Given the description of an element on the screen output the (x, y) to click on. 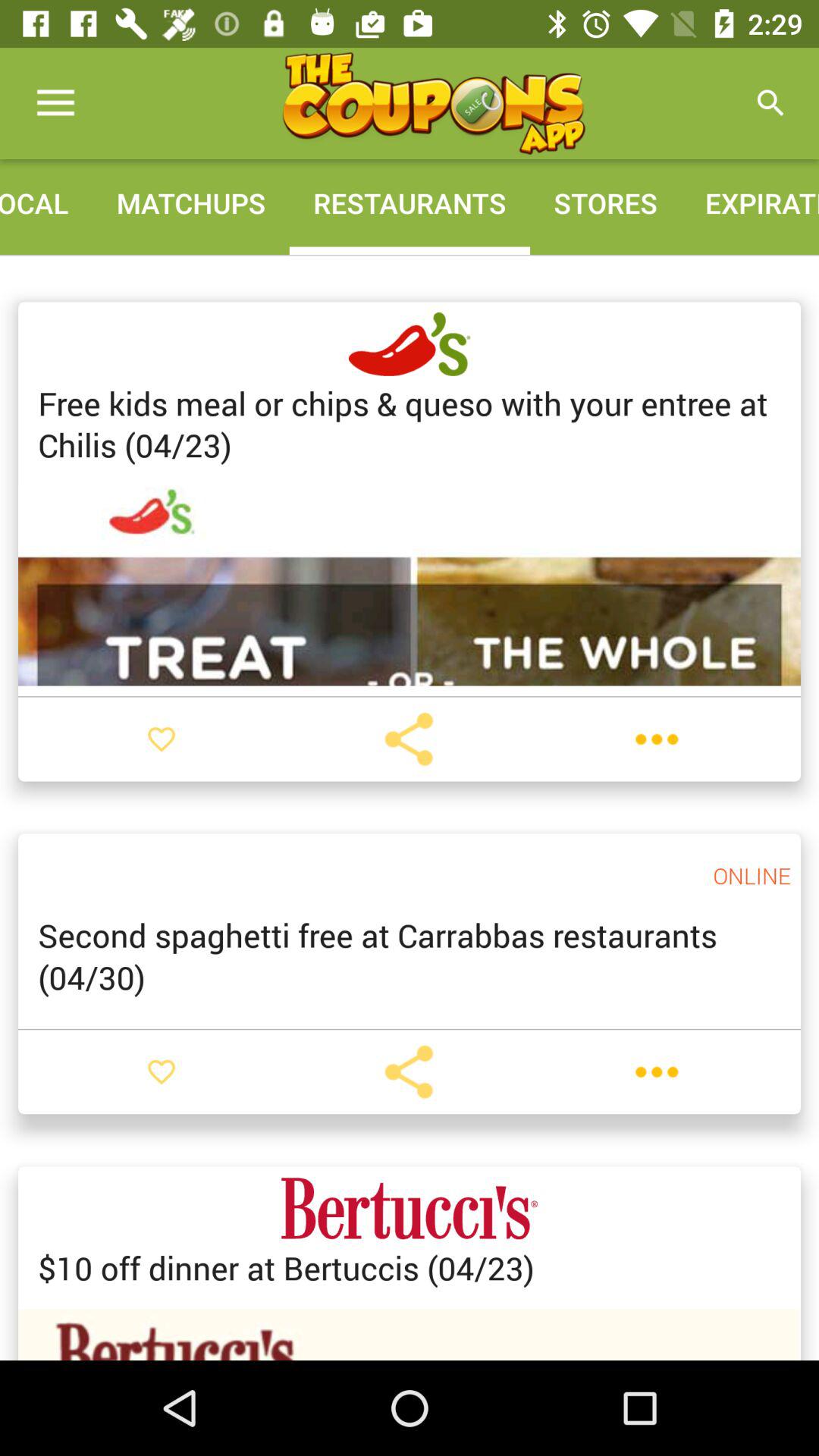
tap the icon next to stores icon (750, 202)
